Given the description of an element on the screen output the (x, y) to click on. 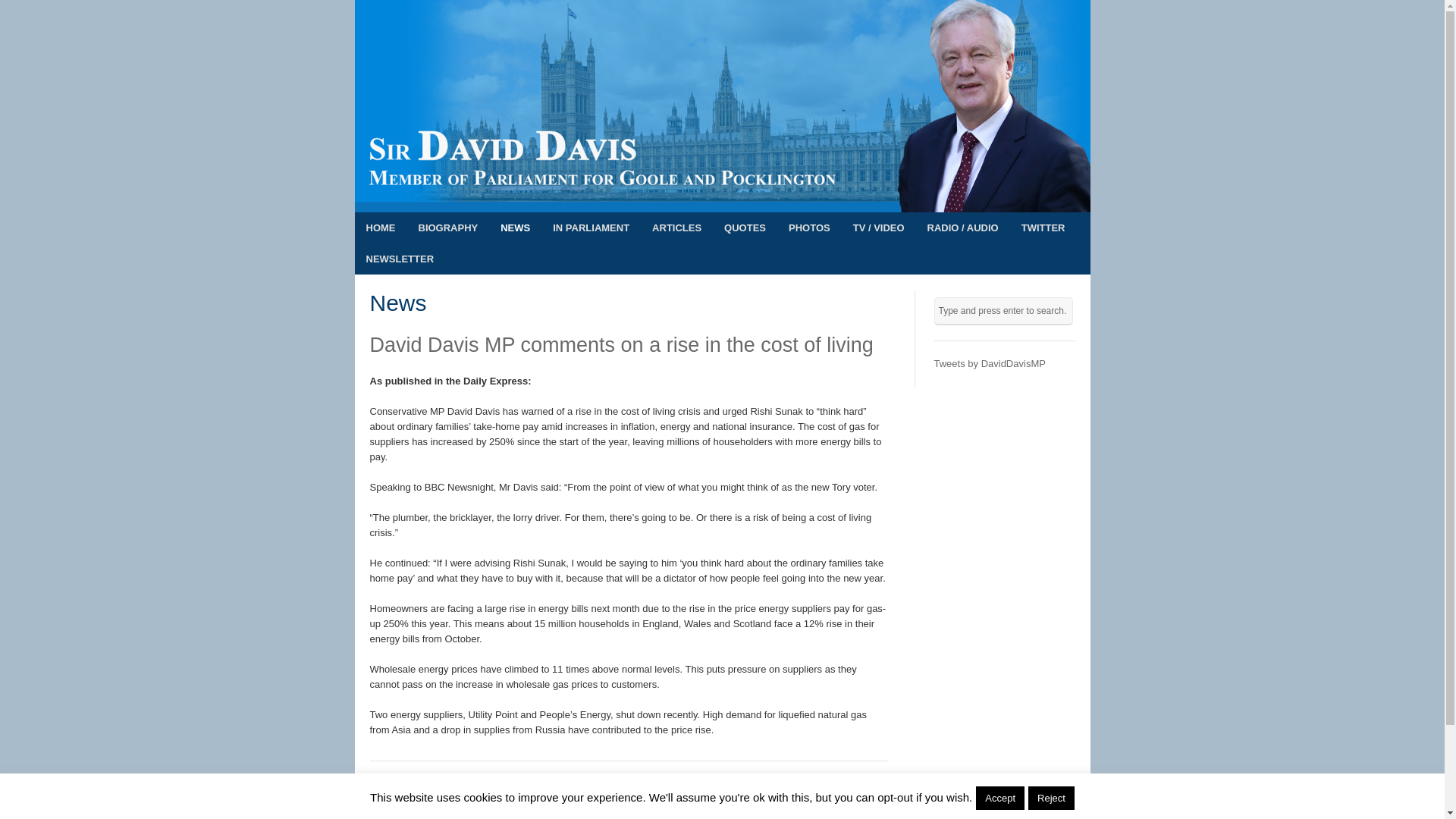
NEWSLETTER (400, 258)
IN PARLIAMENT (590, 227)
ARTICLES (676, 227)
David Davis MP comments on a rise in the cost of living (621, 344)
Newsletter (400, 258)
NEWS (515, 227)
Reject (1050, 797)
Tweets by DavidDavisMP (989, 363)
TV and Video (878, 227)
Articles (676, 227)
QUOTES (745, 227)
BIOGRAPHY (447, 227)
PHOTOS (809, 227)
Photos (809, 227)
News (515, 227)
